Given the description of an element on the screen output the (x, y) to click on. 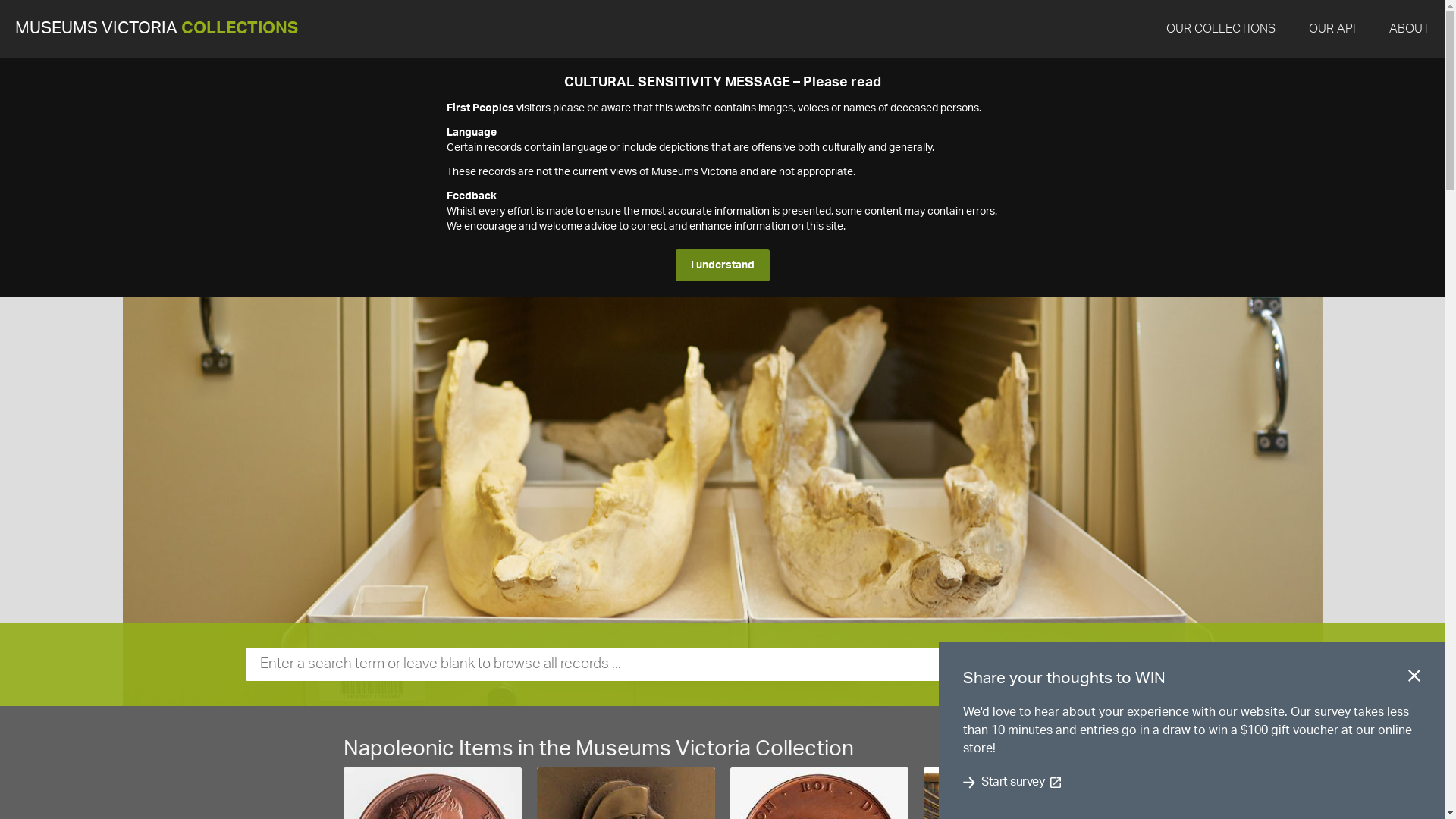
Search Element type: text (1181, 663)
I understand Element type: text (721, 265)
ABOUT Element type: text (1409, 28)
Start survey Element type: text (1012, 782)
OUR API Element type: text (1332, 28)
Close Element type: hover (1414, 678)
OUR COLLECTIONS Element type: text (1220, 28)
MUSEUMS VICTORIA COLLECTIONS Element type: text (156, 28)
